Given the description of an element on the screen output the (x, y) to click on. 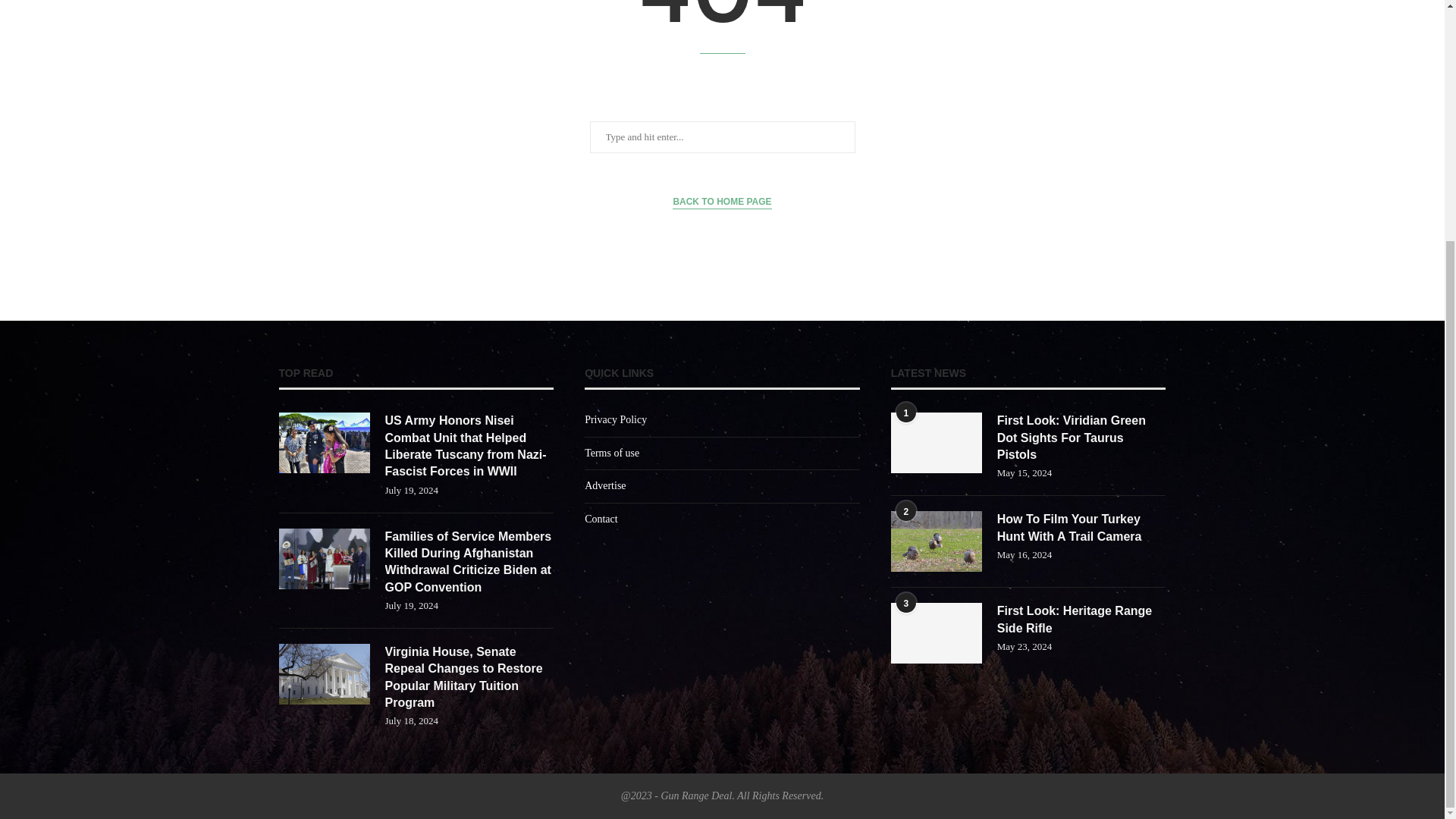
Contact (601, 518)
How To Film Your Turkey Hunt With A Trail Camera (1081, 528)
First Look: Heritage Range Side Rifle (936, 632)
First Look: Viridian Green Dot Sights For Taurus Pistols (936, 442)
First Look: Heritage Range Side Rifle (1081, 619)
Privacy Policy (615, 419)
How To Film Your Turkey Hunt With A Trail Camera (1081, 528)
First Look: Viridian Green Dot Sights For Taurus Pistols (1081, 437)
